Given the description of an element on the screen output the (x, y) to click on. 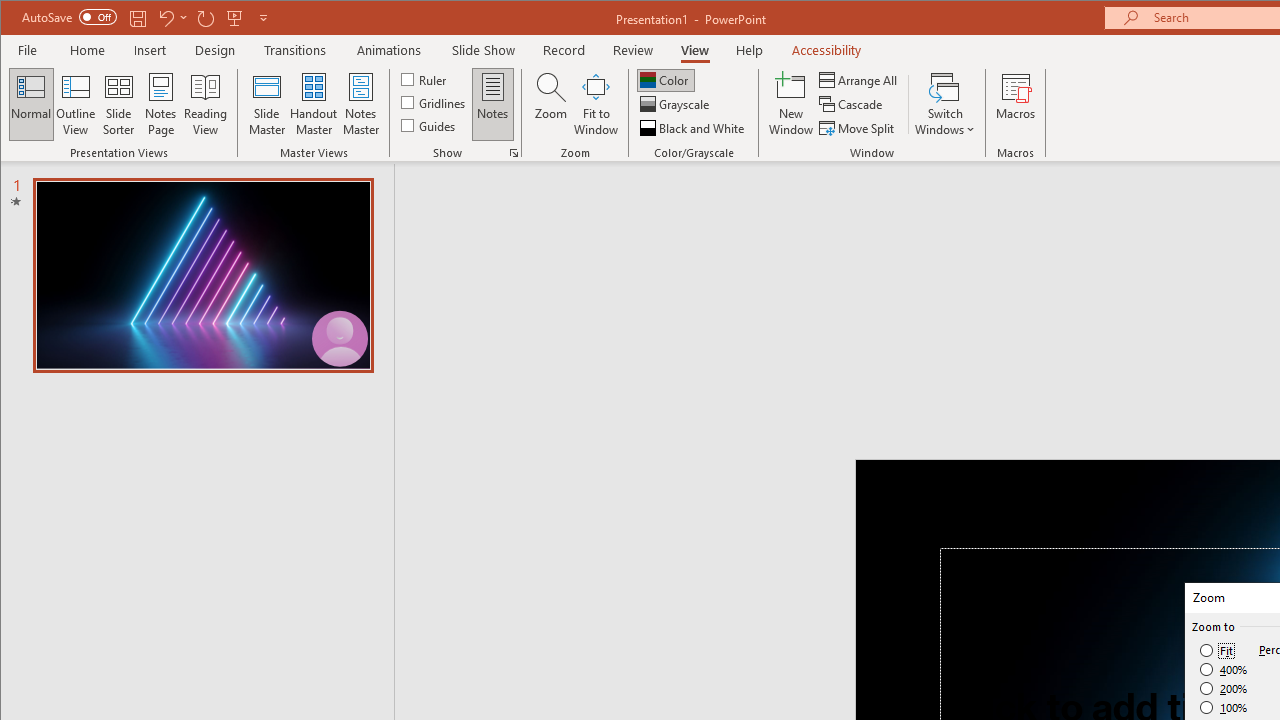
Outline View (75, 104)
Notes (493, 104)
Guides (430, 124)
